Given the description of an element on the screen output the (x, y) to click on. 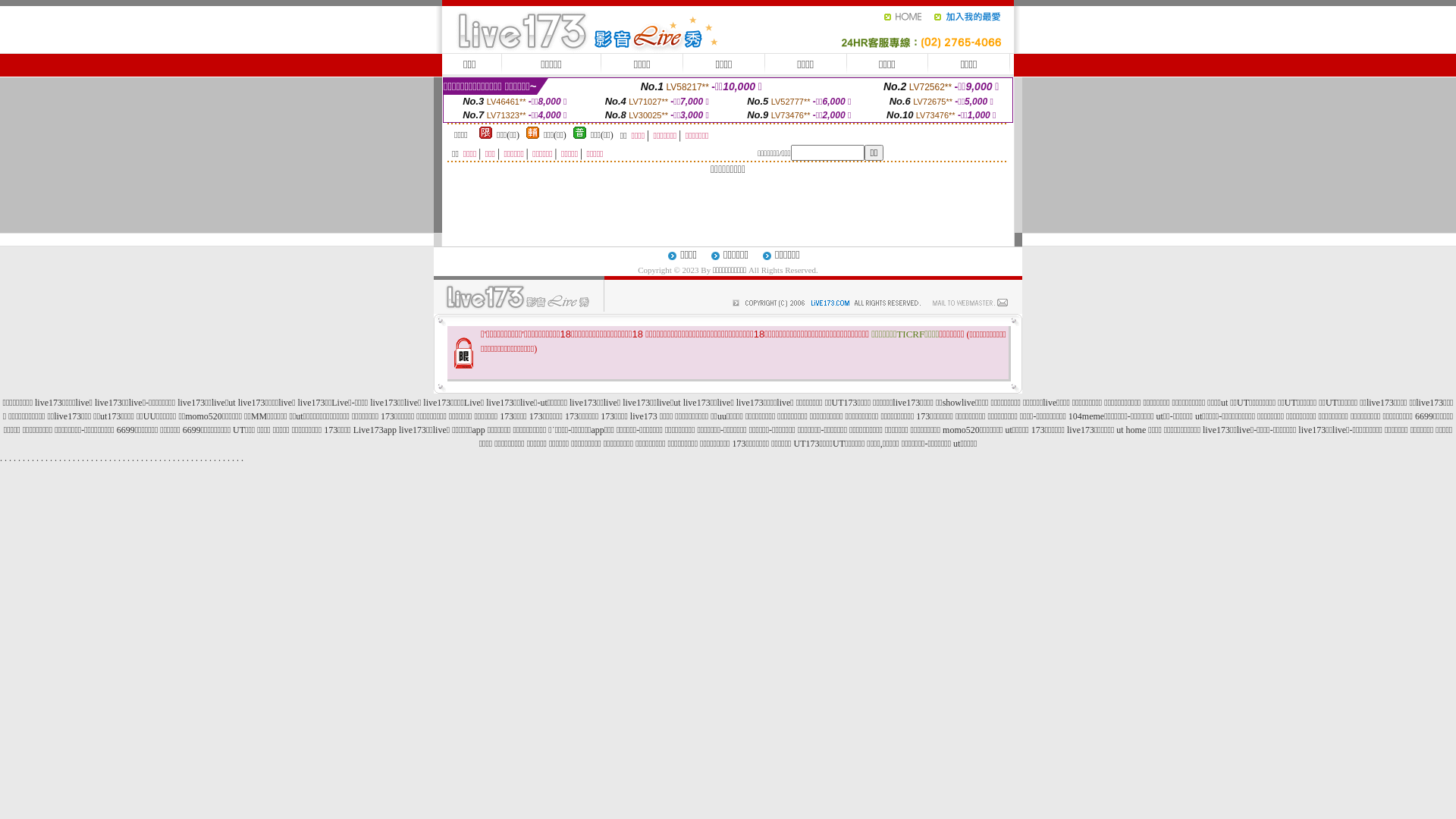
. Element type: text (32, 457)
. Element type: text (119, 457)
. Element type: text (169, 457)
. Element type: text (242, 457)
. Element type: text (210, 457)
. Element type: text (233, 457)
. Element type: text (187, 457)
. Element type: text (69, 457)
. Element type: text (146, 457)
. Element type: text (114, 457)
. Element type: text (14, 457)
. Element type: text (55, 457)
. Element type: text (46, 457)
. Element type: text (60, 457)
. Element type: text (223, 457)
. Element type: text (78, 457)
. Element type: text (155, 457)
. Element type: text (192, 457)
. Element type: text (73, 457)
. Element type: text (110, 457)
Live173app Element type: text (374, 429)
. Element type: text (96, 457)
. Element type: text (10, 457)
. Element type: text (23, 457)
. Element type: text (19, 457)
. Element type: text (205, 457)
. Element type: text (41, 457)
. Element type: text (101, 457)
. Element type: text (142, 457)
. Element type: text (214, 457)
. Element type: text (228, 457)
. Element type: text (160, 457)
. Element type: text (82, 457)
. Element type: text (28, 457)
. Element type: text (92, 457)
. Element type: text (151, 457)
. Element type: text (87, 457)
. Element type: text (219, 457)
. Element type: text (123, 457)
. Element type: text (173, 457)
. Element type: text (37, 457)
. Element type: text (237, 457)
. Element type: text (5, 457)
. Element type: text (132, 457)
. Element type: text (51, 457)
. Element type: text (137, 457)
. Element type: text (196, 457)
. Element type: text (164, 457)
. Element type: text (178, 457)
. Element type: text (64, 457)
. Element type: text (105, 457)
. Element type: text (1, 457)
. Element type: text (128, 457)
. Element type: text (183, 457)
. Element type: text (201, 457)
